Given the description of an element on the screen output the (x, y) to click on. 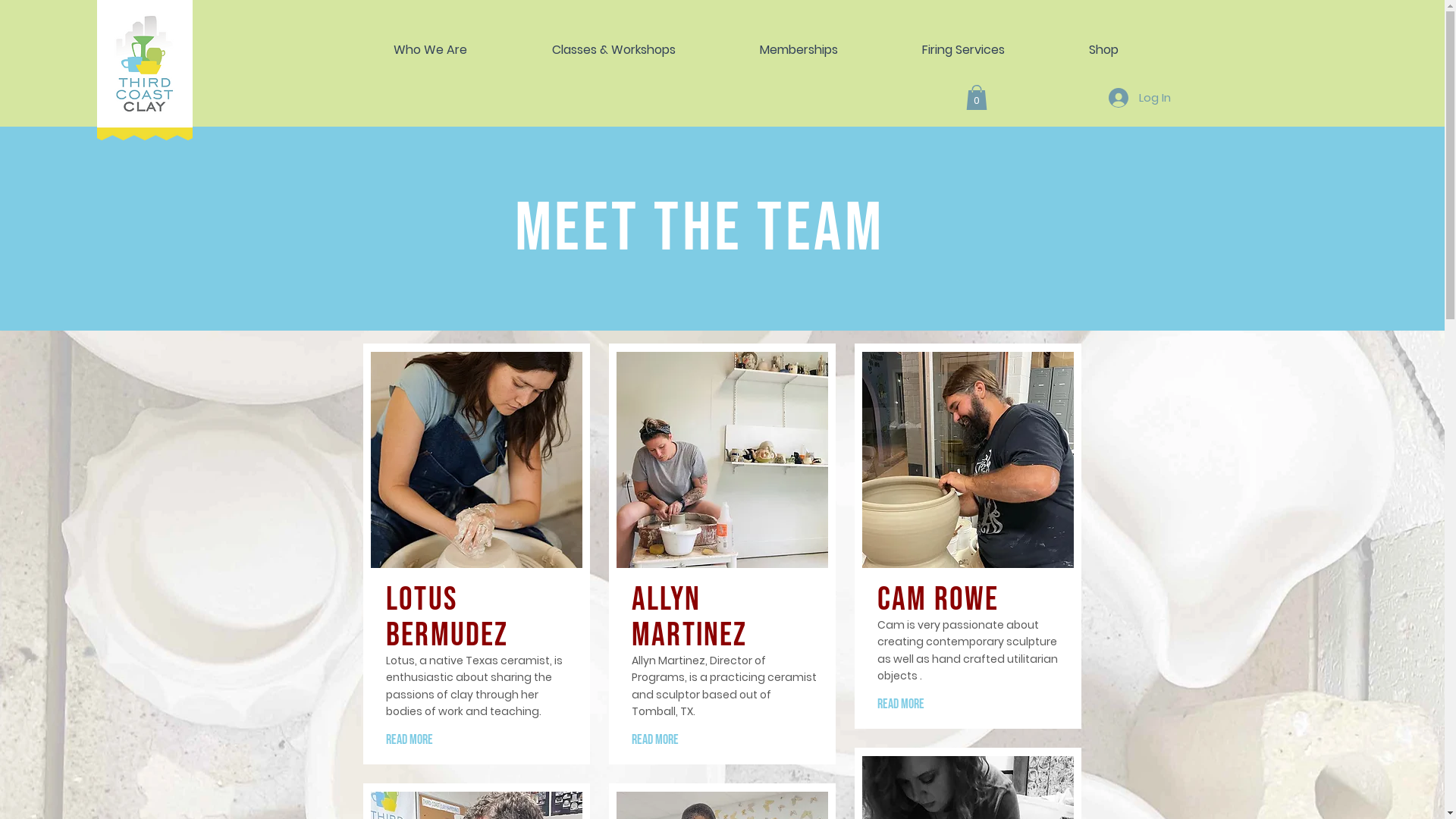
allyn.jpg Element type: hover (722, 459)
Read More Element type: text (723, 740)
Classes & Workshops Element type: text (613, 50)
Read More Element type: text (478, 740)
Memberships Element type: text (798, 50)
Firing Services Element type: text (962, 50)
0 Element type: text (976, 96)
Log In Element type: text (1139, 97)
Who We Are Element type: text (430, 50)
CC6DF5A7-D3E1-42E8-AFE9-4E889D1B1ACA_edited.jpg Element type: hover (967, 459)
Lotus.jpg Element type: hover (476, 459)
Read More Element type: text (969, 704)
Shop Element type: text (1103, 50)
